Given the description of an element on the screen output the (x, y) to click on. 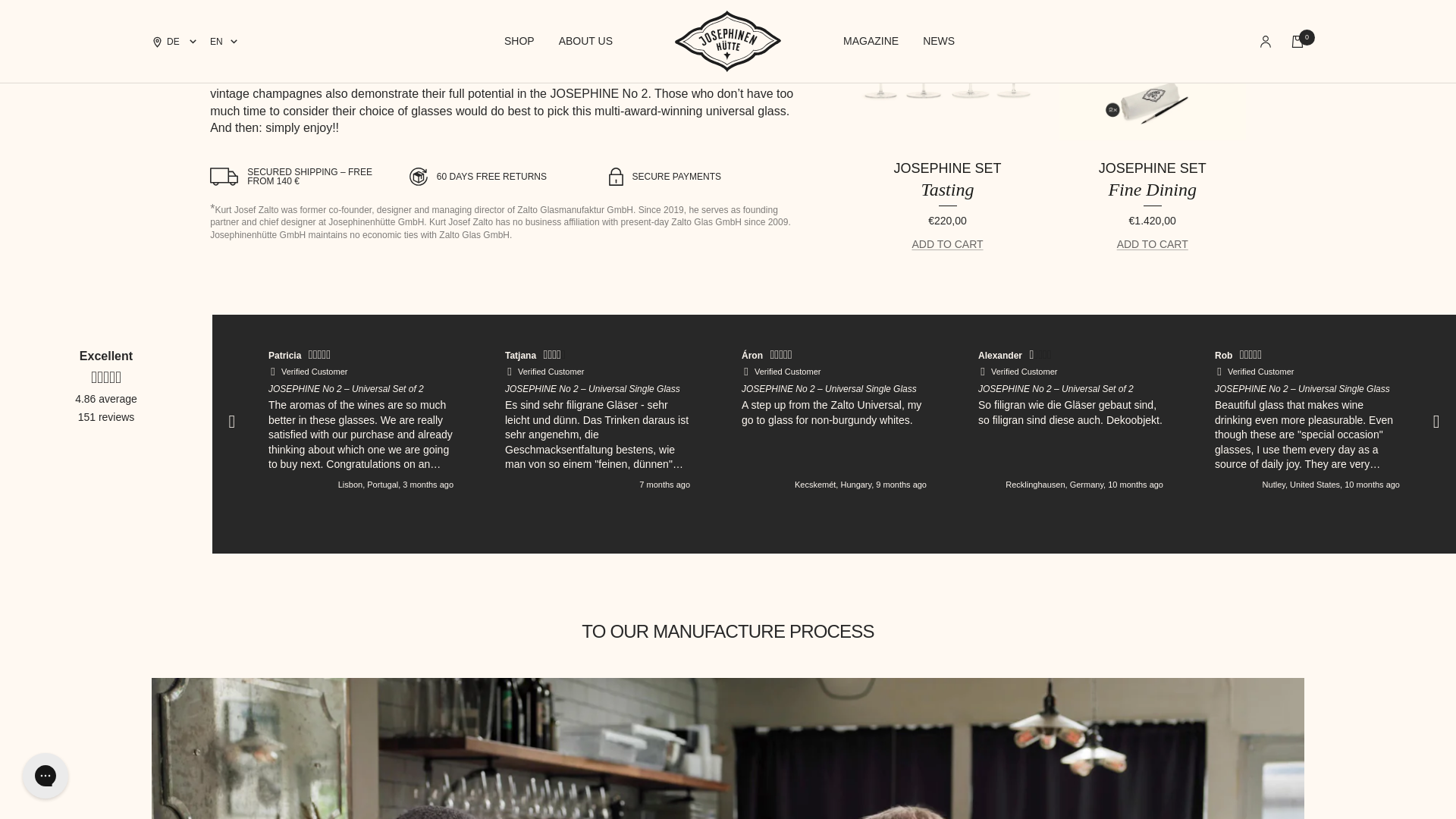
CH (217, 7)
